Given the description of an element on the screen output the (x, y) to click on. 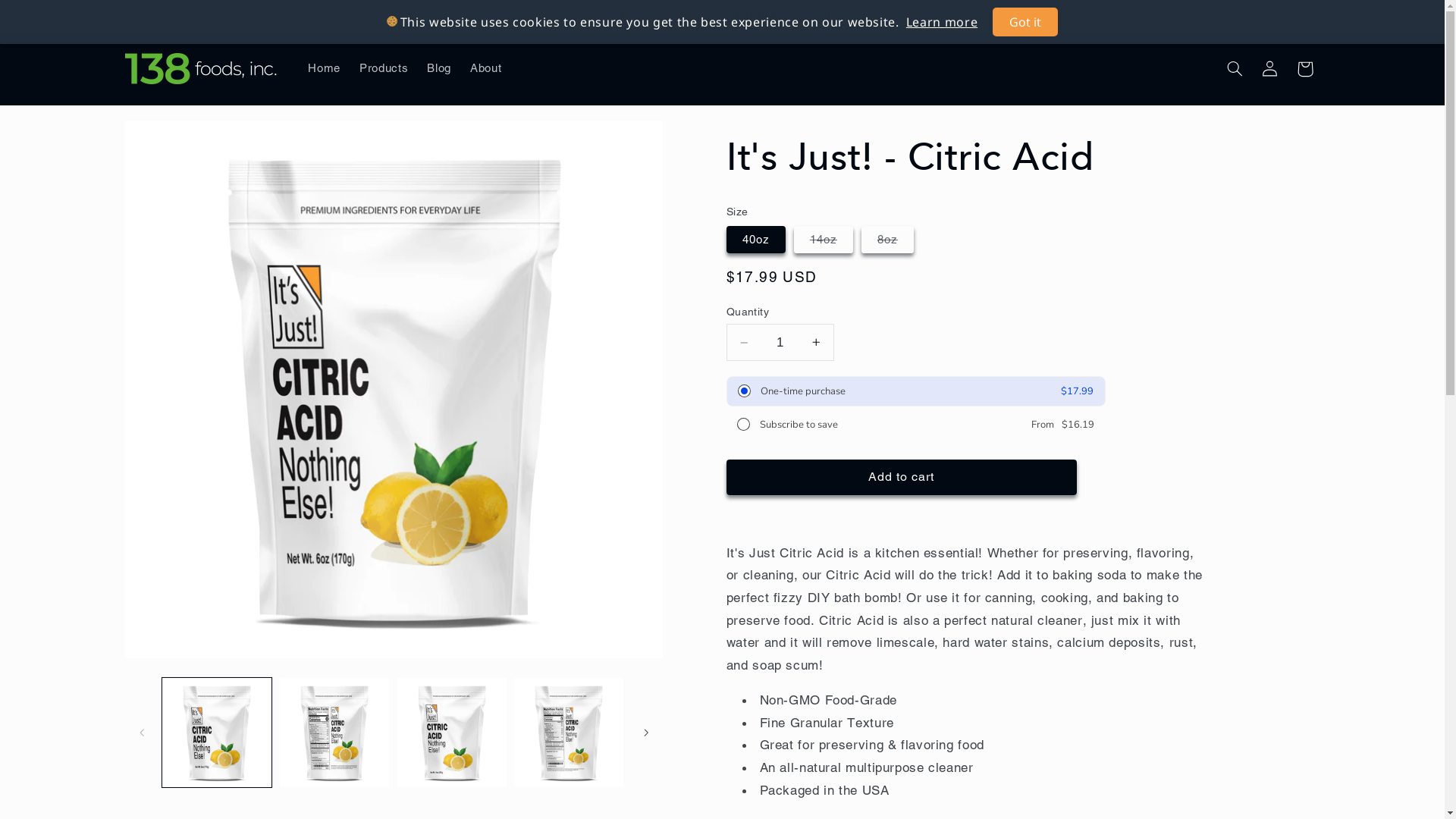
Got it Element type: text (1024, 21)
Home Element type: text (324, 68)
Add to cart Element type: text (901, 477)
Cart Element type: text (1304, 68)
Increase quantity for It&#39;s Just! - Citric Acid Element type: text (816, 341)
Log in Element type: text (1269, 68)
Blog Element type: text (439, 68)
About Element type: text (486, 68)
Products Element type: text (383, 68)
Decrease quantity for It&#39;s Just! - Citric Acid Element type: text (744, 341)
Learn more Element type: text (941, 21)
Skip to product information Element type: text (171, 137)
